Given the description of an element on the screen output the (x, y) to click on. 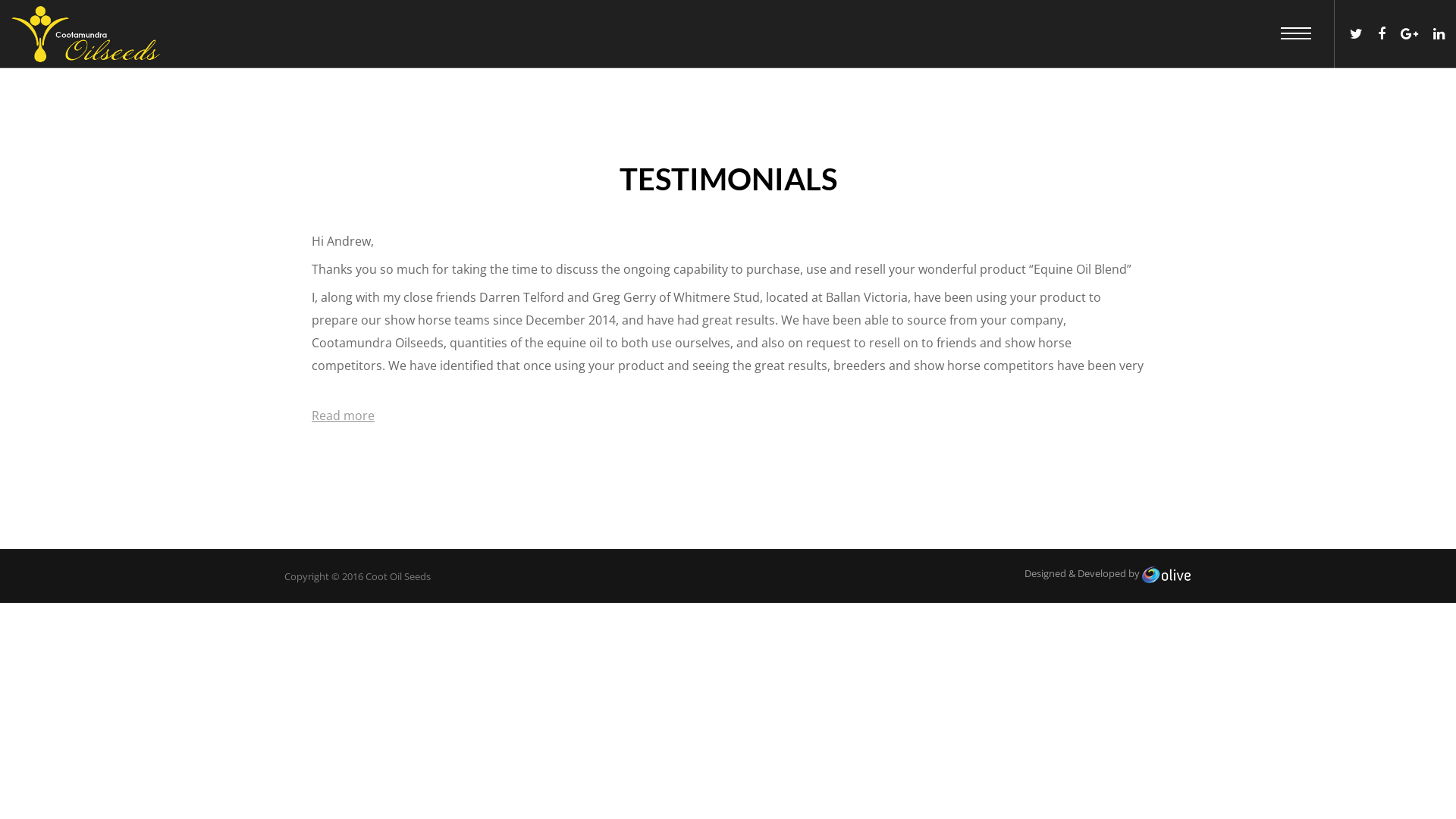
Designed & Developed by Element type: text (1107, 573)
Cootamundra Oilseeds Element type: hover (85, 34)
Read more Element type: text (342, 415)
